Given the description of an element on the screen output the (x, y) to click on. 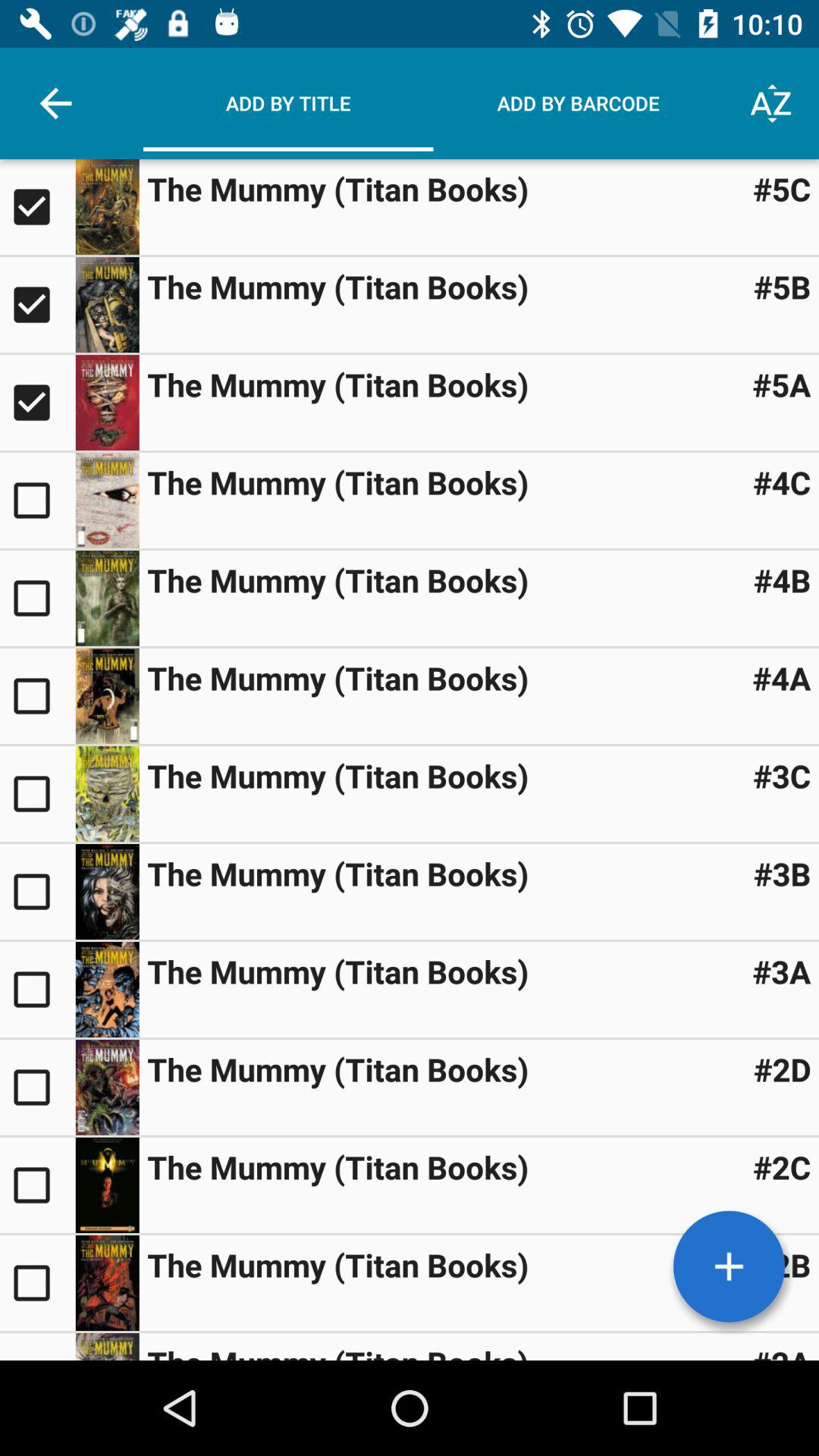
check box by title of books (37, 1282)
